Given the description of an element on the screen output the (x, y) to click on. 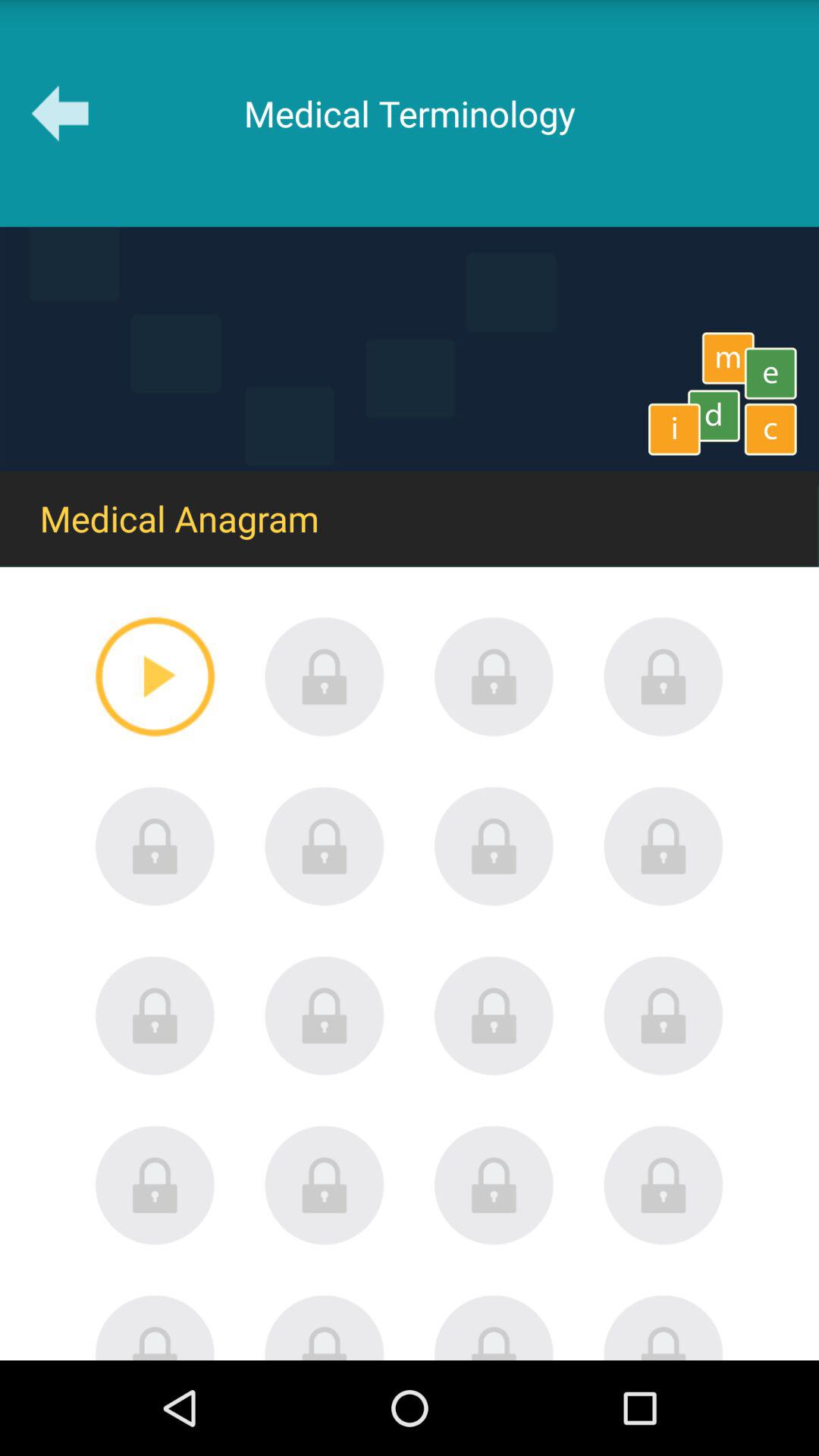
level lock icon (154, 1184)
